Given the description of an element on the screen output the (x, y) to click on. 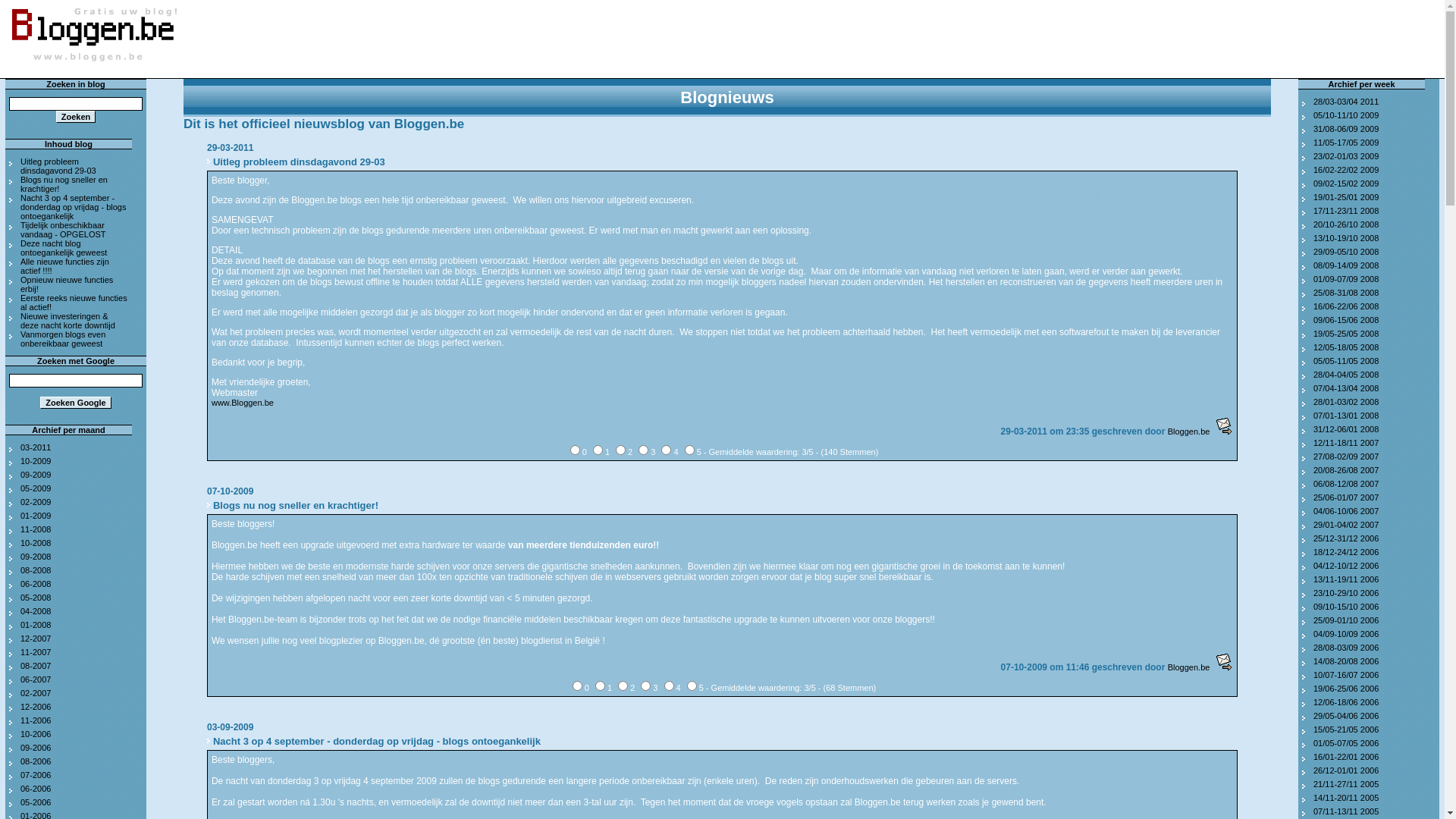
11/05-17/05 2009 Element type: text (1345, 142)
07/11-13/11 2005 Element type: text (1345, 810)
26/12-01/01 2006 Element type: text (1345, 770)
Alle nieuwe functies zijn actief !!!! Element type: text (64, 266)
07/01-13/01 2008 Element type: text (1345, 415)
16/02-22/02 2009 Element type: text (1345, 169)
17/11-23/11 2008 Element type: text (1345, 210)
0 Element type: text (577, 685)
3rd party ad content Element type: hover (825, 124)
08/09-14/09 2008 Element type: text (1345, 264)
3 Element type: text (645, 685)
10-2009 Element type: text (35, 460)
05-2006 Element type: text (35, 801)
04/09-10/09 2006 Element type: text (1345, 633)
29/09-05/10 2008 Element type: text (1345, 251)
20/08-26/08 2007 Element type: text (1345, 469)
04/06-10/06 2007 Element type: text (1345, 510)
08-2008 Element type: text (35, 569)
05/05-11/05 2008 Element type: text (1345, 360)
06-2008 Element type: text (35, 583)
25/08-31/08 2008 Element type: text (1345, 292)
19/05-25/05 2008 Element type: text (1345, 333)
Eerste reeks nieuwe functies al actief! Element type: text (73, 302)
12-2006 Element type: text (35, 706)
07-2006 Element type: text (35, 774)
28/08-03/09 2006 Element type: text (1345, 647)
01-2009 Element type: text (35, 515)
02-2009 Element type: text (35, 501)
21/11-27/11 2005 Element type: text (1345, 783)
1 Element type: text (597, 450)
5 Element type: text (689, 450)
02-2007 Element type: text (35, 692)
29/05-04/06 2006 Element type: text (1345, 715)
10/07-16/07 2006 Element type: text (1345, 674)
20/10-26/10 2008 Element type: text (1345, 224)
12/06-18/06 2006 Element type: text (1345, 701)
25/06-01/07 2007 Element type: text (1345, 497)
Uitleg probleem dinsdagavond 29-03 Element type: text (58, 165)
11-2007 Element type: text (35, 651)
25/12-31/12 2006 Element type: text (1345, 537)
2 Element type: text (620, 450)
Nieuwe investeringen & deze nacht korte downtijd Element type: text (67, 320)
19/01-25/01 2009 Element type: text (1345, 196)
19/06-25/06 2006 Element type: text (1345, 688)
Zoeken Element type: text (76, 116)
Tijdelijk onbeschikbaar vandaag - OPGELOST Element type: text (63, 229)
10-2006 Element type: text (35, 733)
Bloggen.be Element type: text (1188, 666)
11-2006 Element type: text (35, 719)
Opnieuw nieuwe functies erbij! Element type: text (66, 284)
06-2006 Element type: text (35, 788)
03-2011 Element type: text (35, 446)
08-2006 Element type: text (35, 760)
15/05-21/05 2006 Element type: text (1345, 729)
14/11-20/11 2005 Element type: text (1345, 797)
Bloggen.be Element type: text (1188, 431)
3 Element type: text (643, 450)
13/11-19/11 2006 Element type: text (1345, 578)
5 Element type: text (691, 685)
11-2008 Element type: text (35, 528)
28/03-03/04 2011 Element type: text (1345, 101)
01/05-07/05 2006 Element type: text (1345, 742)
Blogs nu nog sneller en krachtiger! Element type: text (63, 184)
10-2008 Element type: text (35, 542)
2 Element type: text (622, 685)
09-2008 Element type: text (35, 556)
08-2007 Element type: text (35, 665)
01-2008 Element type: text (35, 624)
07/04-13/04 2008 Element type: text (1345, 387)
13/10-19/10 2008 Element type: text (1345, 237)
0 Element type: text (575, 450)
04-2008 Element type: text (35, 610)
09/02-15/02 2009 Element type: text (1345, 183)
09-2006 Element type: text (35, 747)
Zoeken Google Element type: text (75, 402)
12-2007 Element type: text (35, 638)
12/11-18/11 2007 Element type: text (1345, 442)
18/12-24/12 2006 Element type: text (1345, 551)
16/01-22/01 2006 Element type: text (1345, 756)
Vanmorgen blogs even onbereikbaar geweest Element type: text (62, 338)
04/12-10/12 2006 Element type: text (1345, 565)
4 Element type: text (669, 685)
31/08-06/09 2009 Element type: text (1345, 128)
4 Element type: text (666, 450)
06/08-12/08 2007 Element type: text (1345, 483)
05/10-11/10 2009 Element type: text (1345, 114)
05-2009 Element type: text (35, 487)
31/12-06/01 2008 Element type: text (1345, 428)
14/08-20/08 2006 Element type: text (1345, 660)
06-2007 Element type: text (35, 679)
09/06-15/06 2008 Element type: text (1345, 319)
09-2009 Element type: text (35, 474)
28/01-03/02 2008 Element type: text (1345, 401)
09/10-15/10 2006 Element type: text (1345, 606)
05-2008 Element type: text (35, 597)
Deze nacht blog ontoegankelijk geweest Element type: text (63, 247)
1 Element type: text (600, 685)
25/09-01/10 2006 Element type: text (1345, 619)
27/08-02/09 2007 Element type: text (1345, 456)
23/02-01/03 2009 Element type: text (1345, 155)
28/04-04/05 2008 Element type: text (1345, 374)
16/06-22/06 2008 Element type: text (1345, 305)
23/10-29/10 2006 Element type: text (1345, 592)
01/09-07/09 2008 Element type: text (1345, 278)
12/05-18/05 2008 Element type: text (1345, 346)
29/01-04/02 2007 Element type: text (1345, 524)
www.Bloggen.be Element type: text (242, 402)
